Given the description of an element on the screen output the (x, y) to click on. 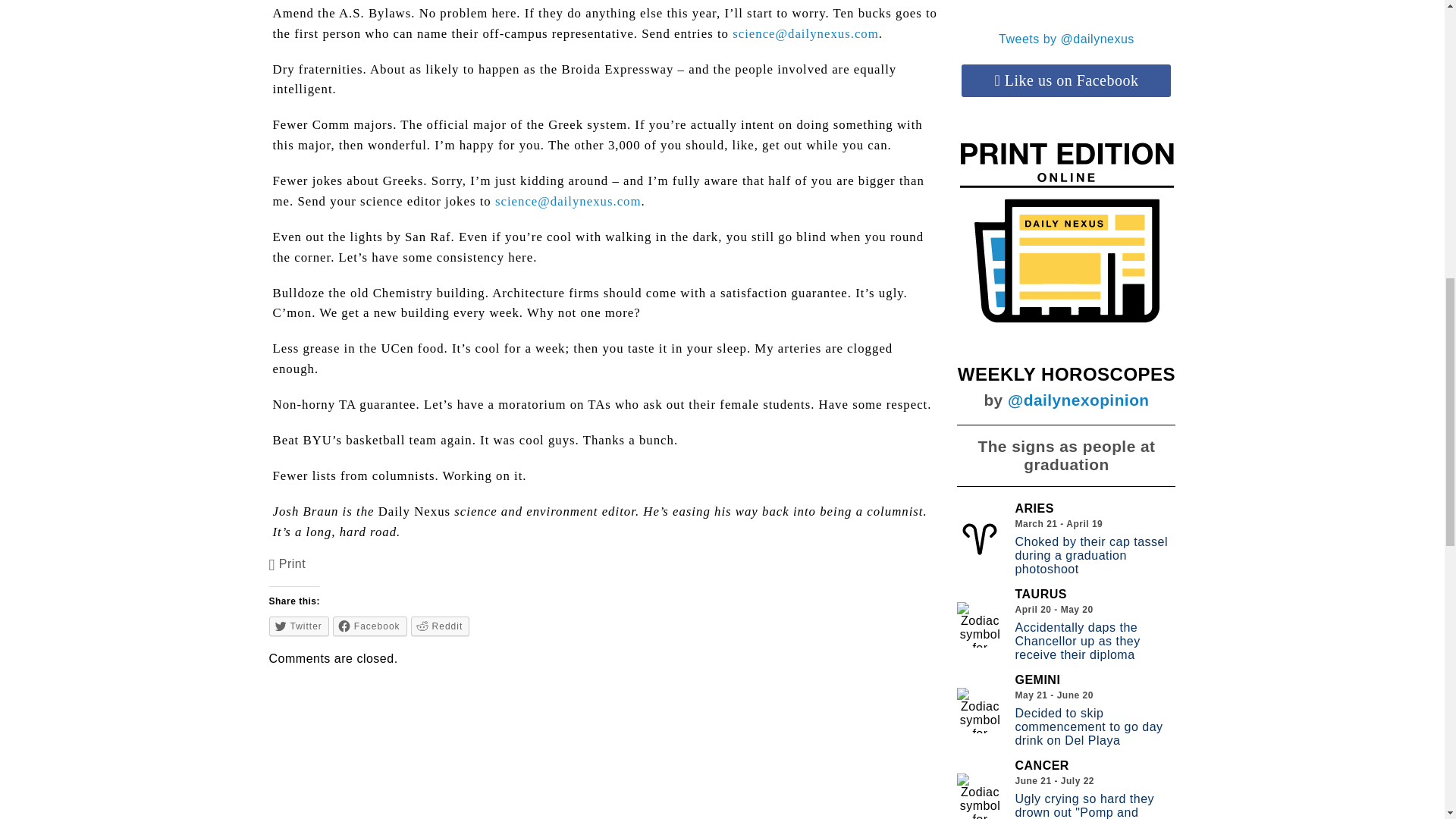
Click to share on Twitter (299, 626)
Click to share on Facebook (370, 626)
Click to share on Reddit (440, 626)
